Given the description of an element on the screen output the (x, y) to click on. 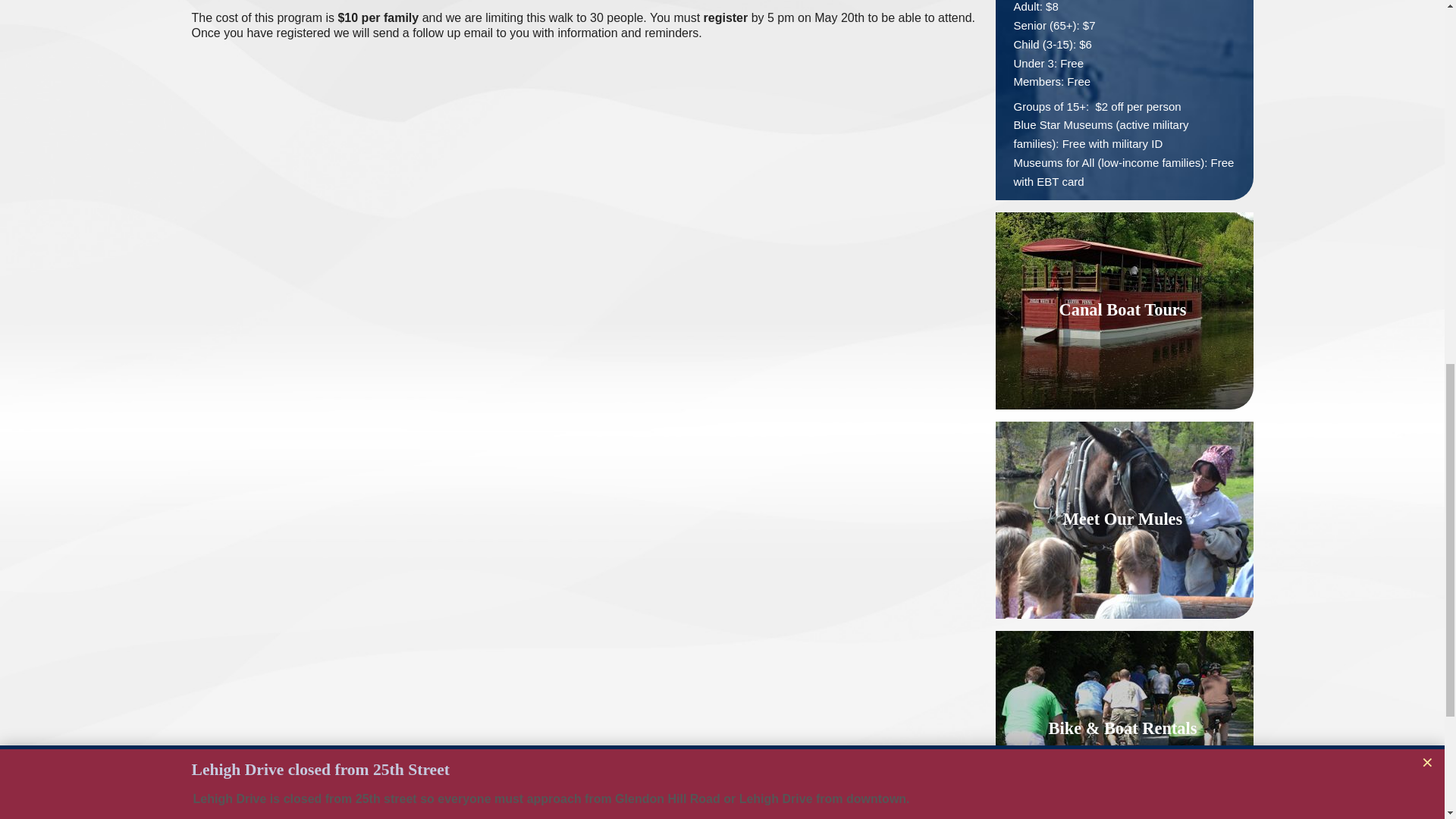
Meet Our Mules (1124, 520)
Canal Boat Tours (1124, 310)
